Given the description of an element on the screen output the (x, y) to click on. 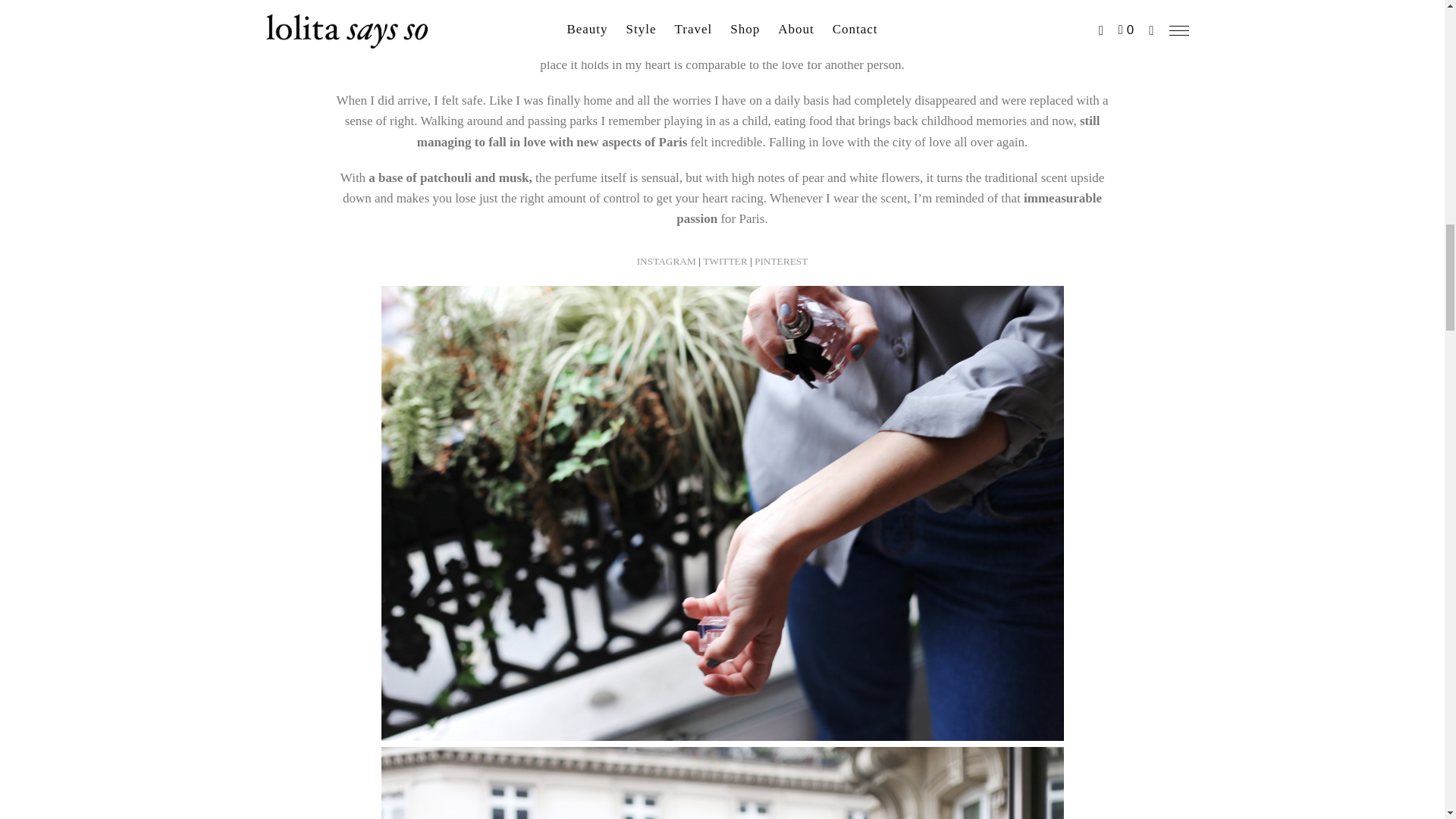
NSTAGRAM (667, 260)
PINTEREST (781, 260)
TWITTER  (726, 260)
Mon Paris (362, 23)
